Given the description of an element on the screen output the (x, y) to click on. 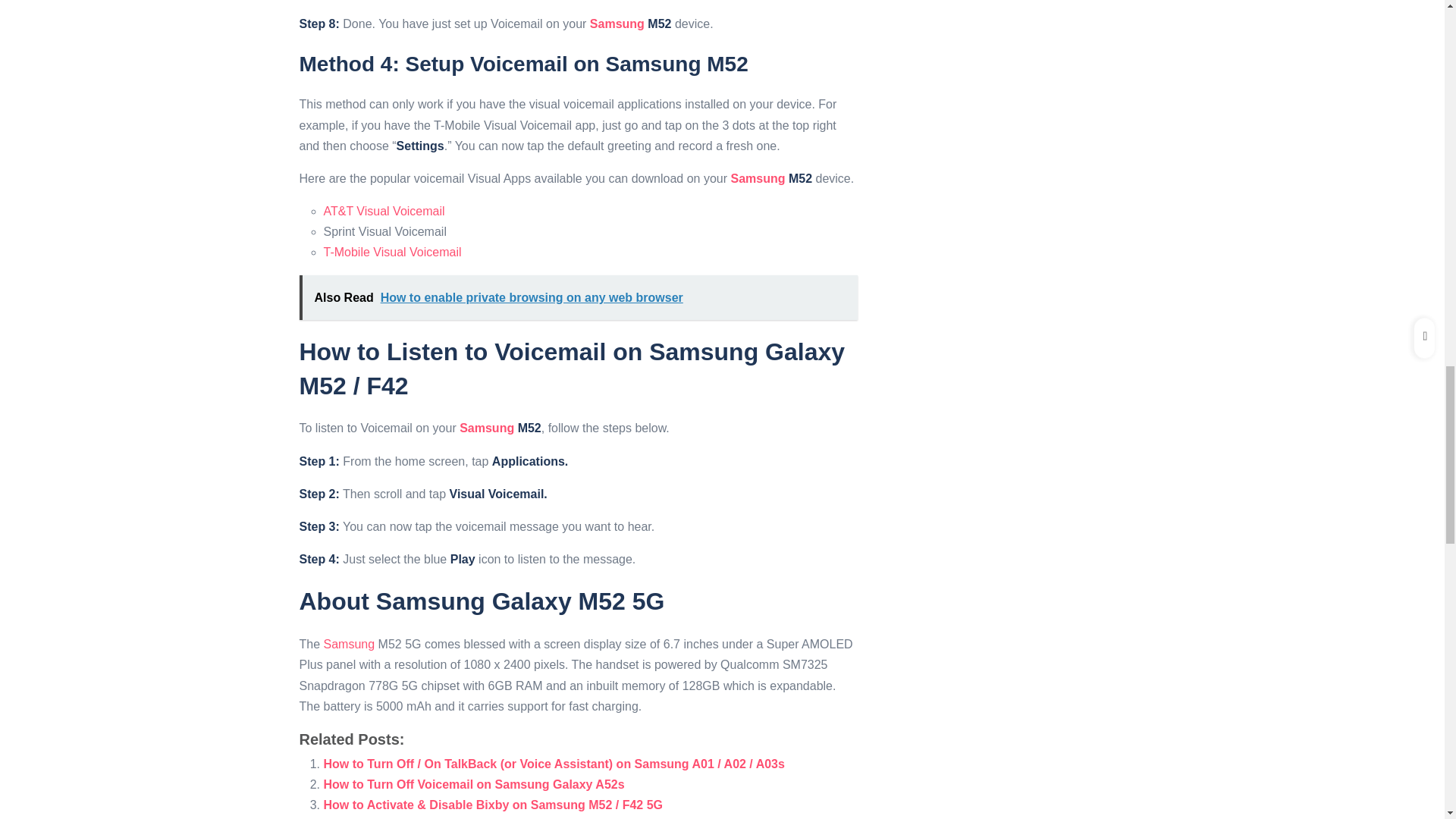
How to Turn Off Voicemail on Samsung Galaxy A52s (473, 784)
